Given the description of an element on the screen output the (x, y) to click on. 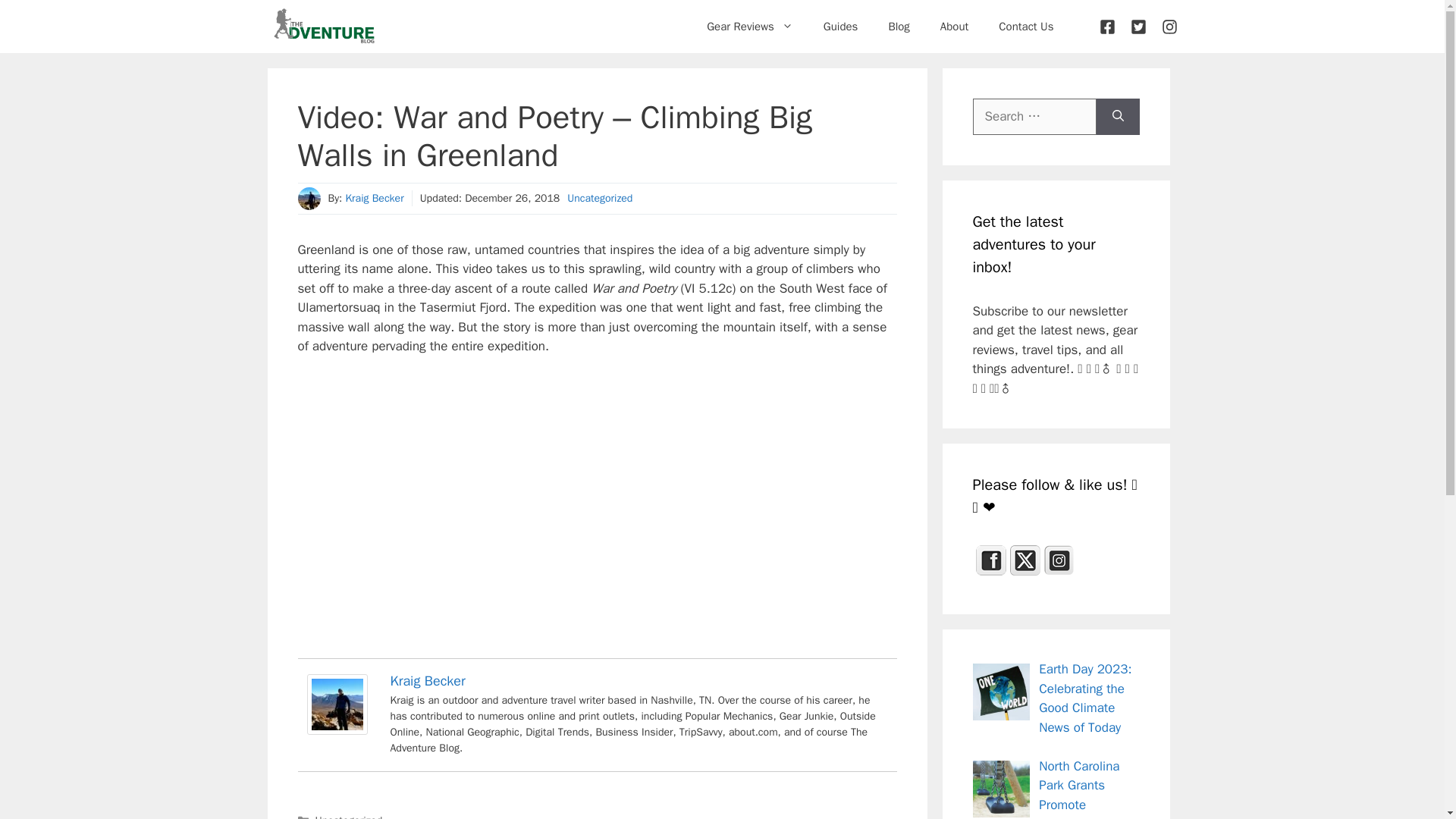
Guides (840, 26)
North Carolina Park Grants Promote Accessibility Outdoors (1045, 788)
Twitter (1025, 560)
Uncategorized (348, 816)
The Adventure Blog (323, 26)
Search for: (1034, 116)
Contact Us (1026, 26)
Kraig Becker (335, 730)
Gear Reviews (749, 26)
Earth Day 2023: Celebrating the Good Climate News of Today (1085, 697)
